Given the description of an element on the screen output the (x, y) to click on. 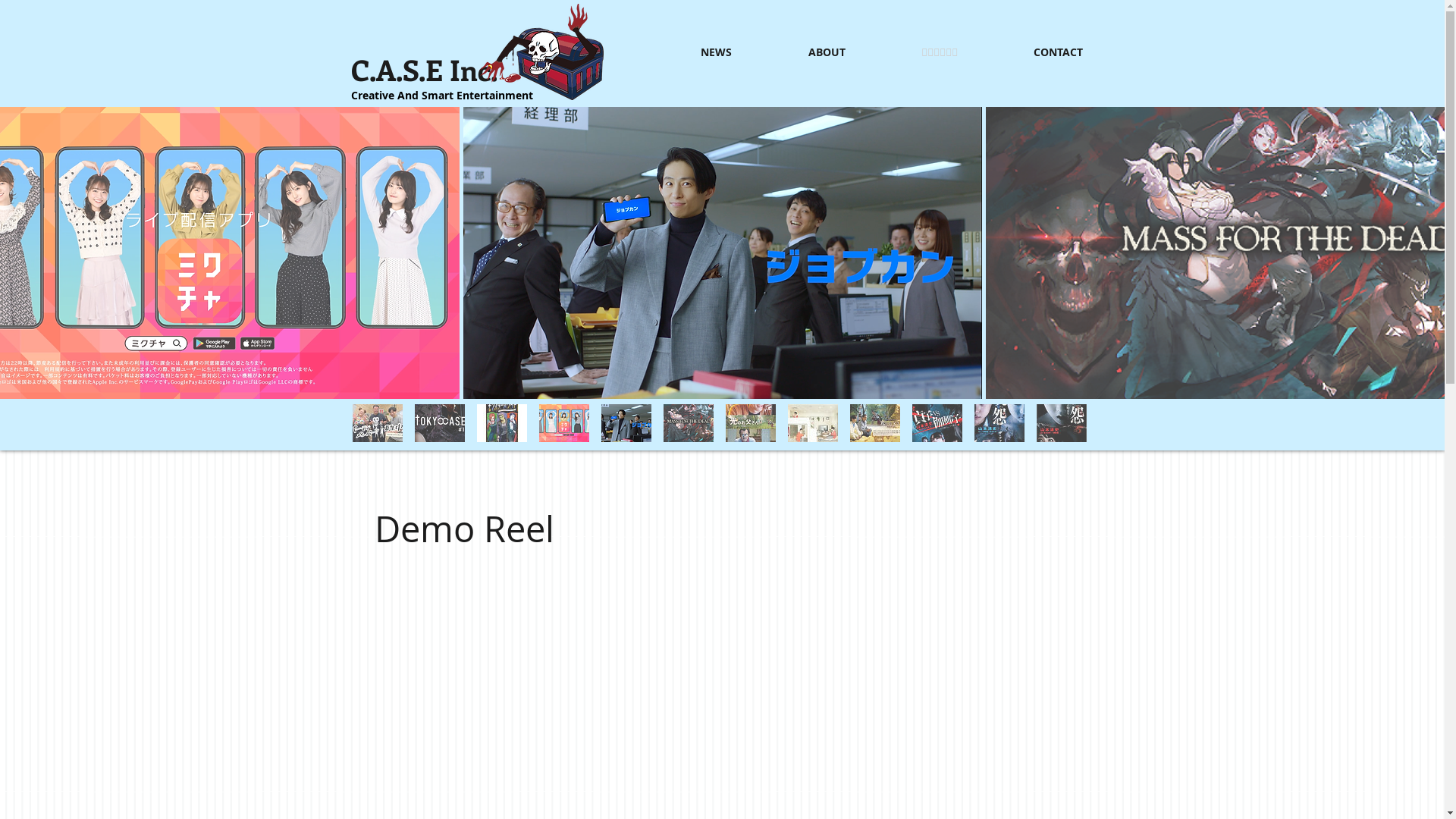
NEWS Element type: text (689, 51)
CONTACT Element type: text (1031, 51)
ABOUT Element type: text (799, 51)
case_logo_72dpi.png Element type: hover (541, 51)
